Given the description of an element on the screen output the (x, y) to click on. 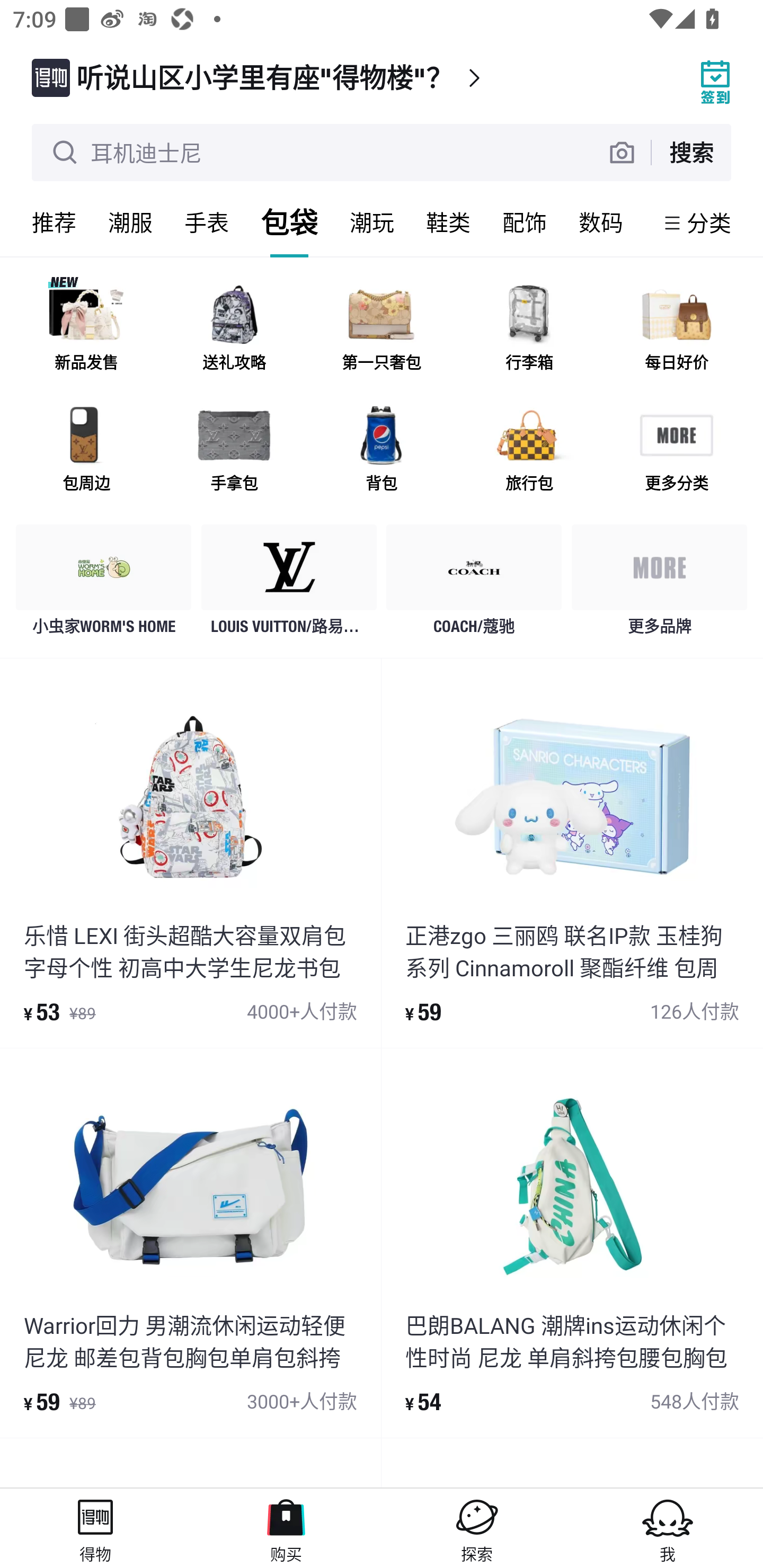
搜索 (690, 152)
推荐 (54, 222)
潮服 (130, 222)
手表 (206, 222)
包袋 (289, 222)
潮玩 (372, 222)
鞋类 (448, 222)
配饰 (524, 222)
数码 (601, 222)
分类 (708, 222)
新品发售 (86, 329)
送礼攻略 (233, 329)
第一只奢包 (381, 329)
行李箱 (528, 329)
每日好价 (676, 329)
包周边 (86, 450)
手拿包 (233, 450)
背包 (381, 450)
旅行包 (528, 450)
更多分类 (676, 450)
小虫家WORM'S HOME (103, 583)
LOUIS VUITTON/路易威登 (288, 583)
COACH/蔻驰 (473, 583)
更多品牌 (658, 583)
得物 (95, 1528)
购买 (285, 1528)
探索 (476, 1528)
我 (667, 1528)
